Given the description of an element on the screen output the (x, y) to click on. 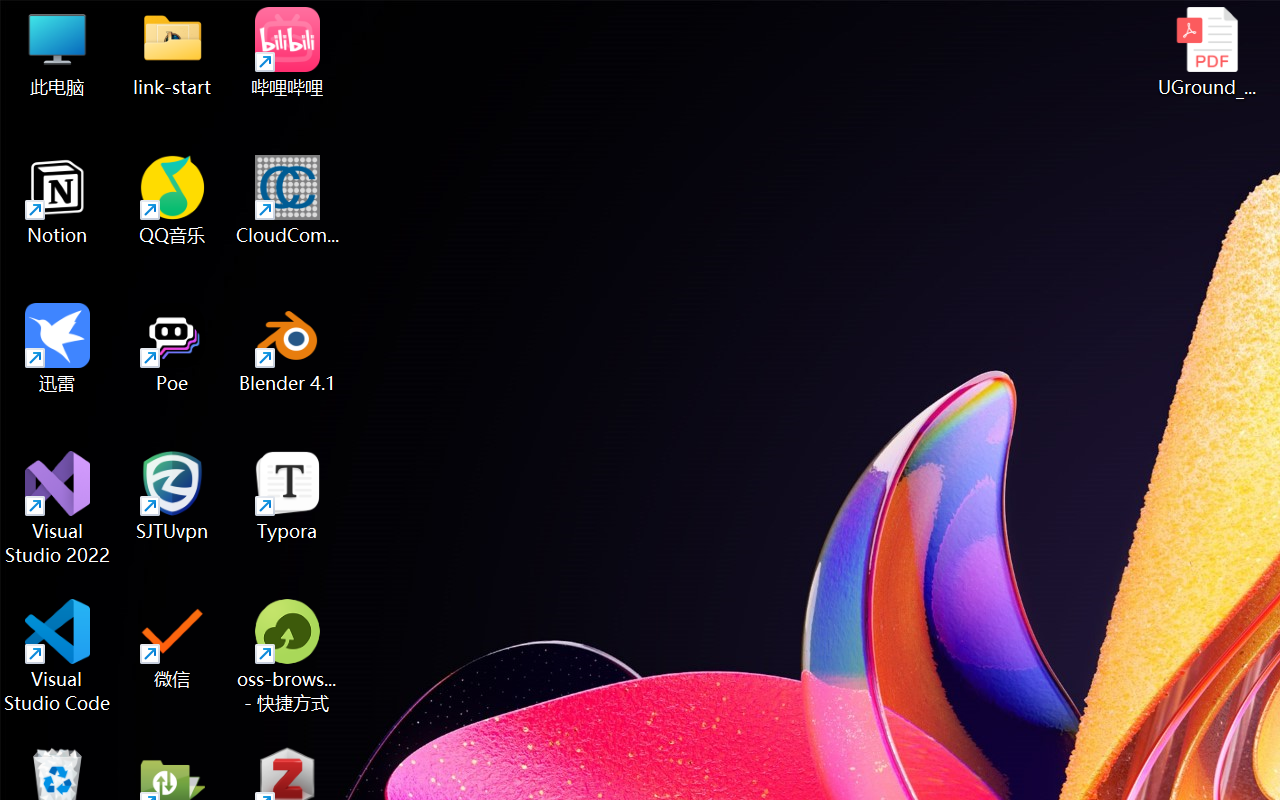
Visual Studio 2022 (57, 508)
CloudCompare (287, 200)
UGround_paper.pdf (1206, 52)
SJTUvpn (172, 496)
Visual Studio Code (57, 656)
Typora (287, 496)
Blender 4.1 (287, 348)
